Given the description of an element on the screen output the (x, y) to click on. 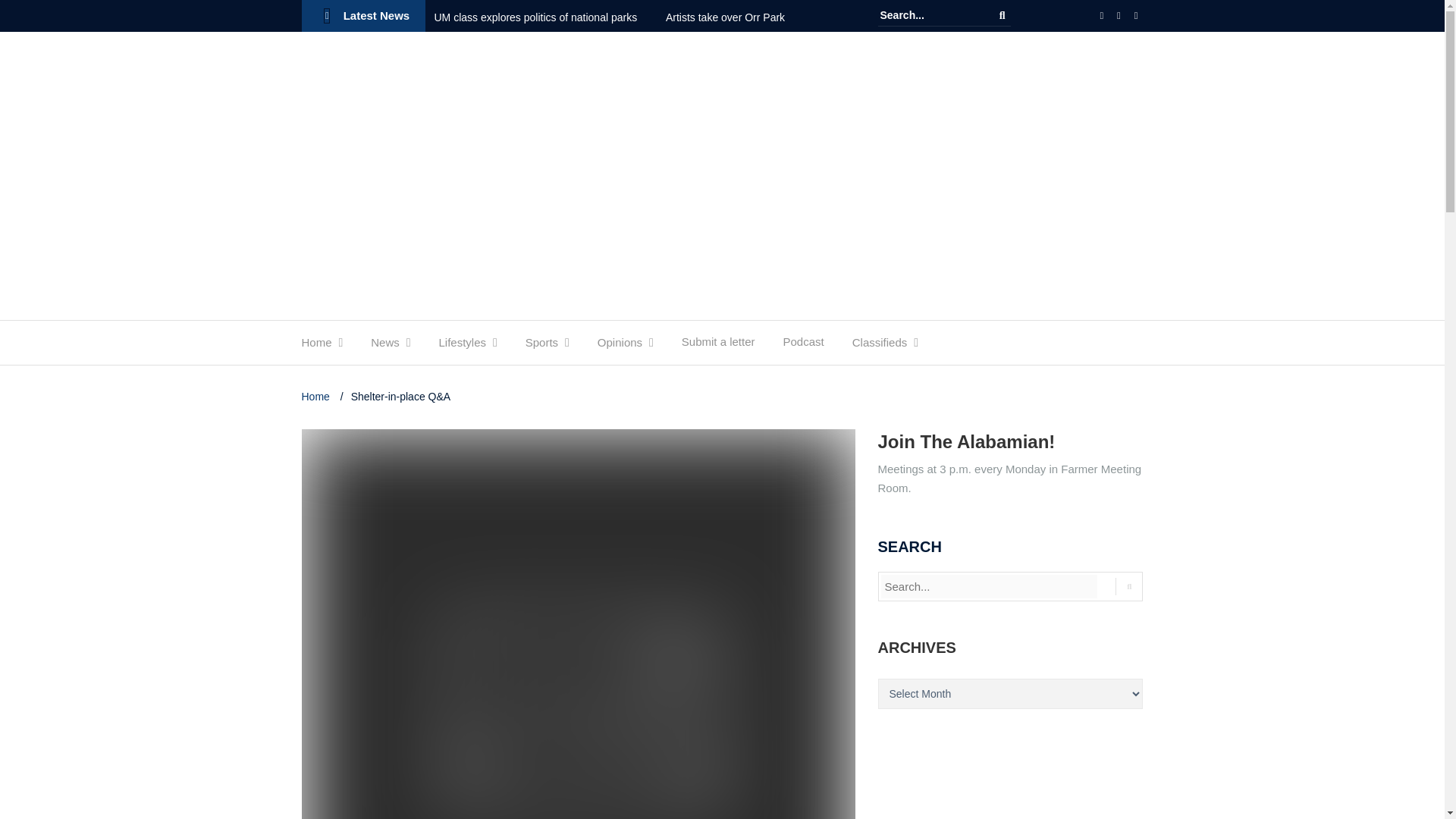
Classifieds (879, 346)
Artists take over Orr Park  (737, 17)
Podcast (803, 345)
Lifestyles (462, 346)
News (384, 346)
UM class explores politics of national parks  (547, 17)
Home (316, 346)
Search   (1002, 14)
Submit a letter (718, 345)
Opinions (619, 346)
